Given the description of an element on the screen output the (x, y) to click on. 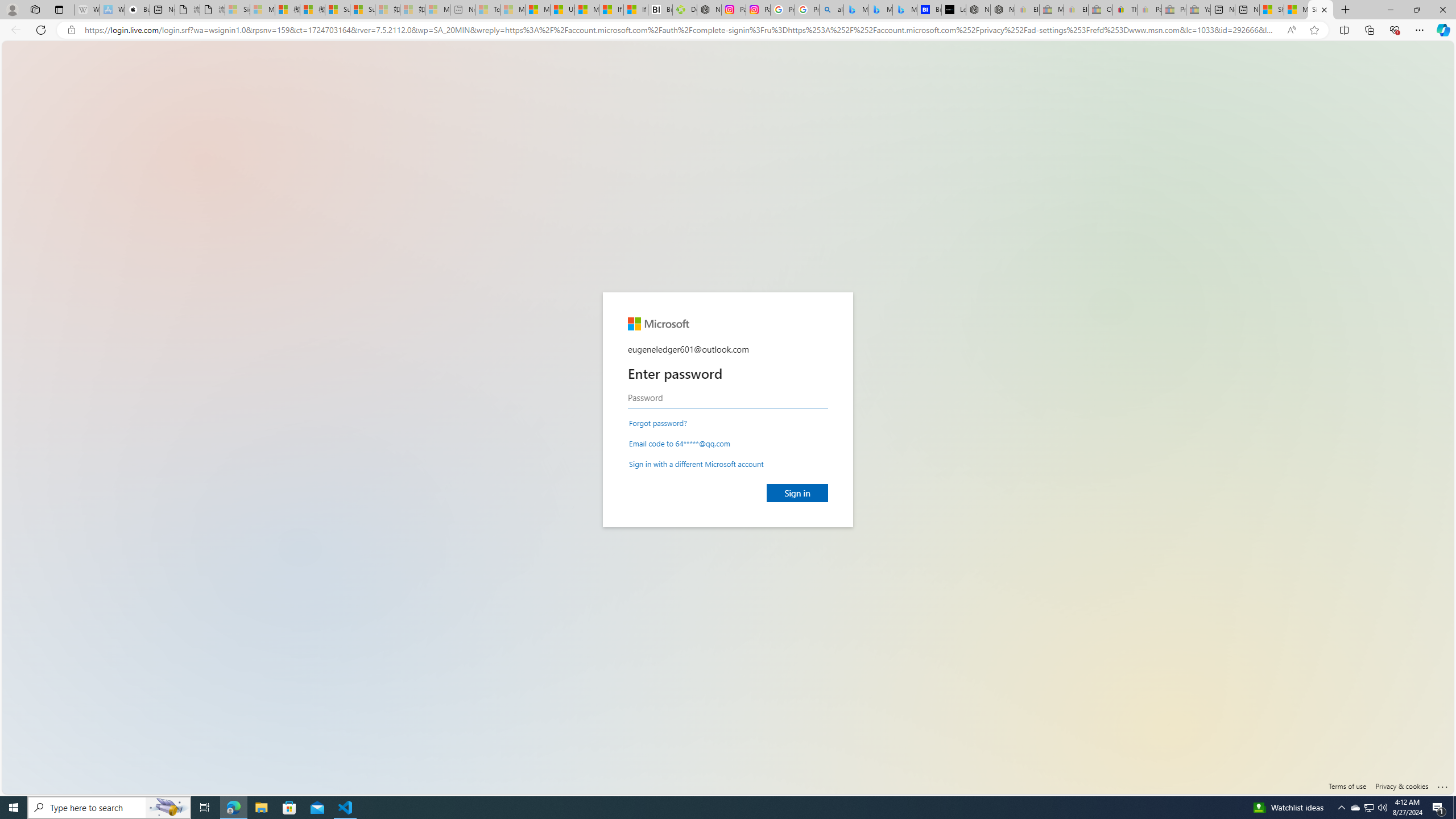
Descarga Driver Updater (684, 9)
Microsoft (657, 323)
Privacy & cookies (1401, 785)
Click here for troubleshooting information (1442, 784)
Press Room - eBay Inc. - Sleeping (1174, 9)
